Given the description of an element on the screen output the (x, y) to click on. 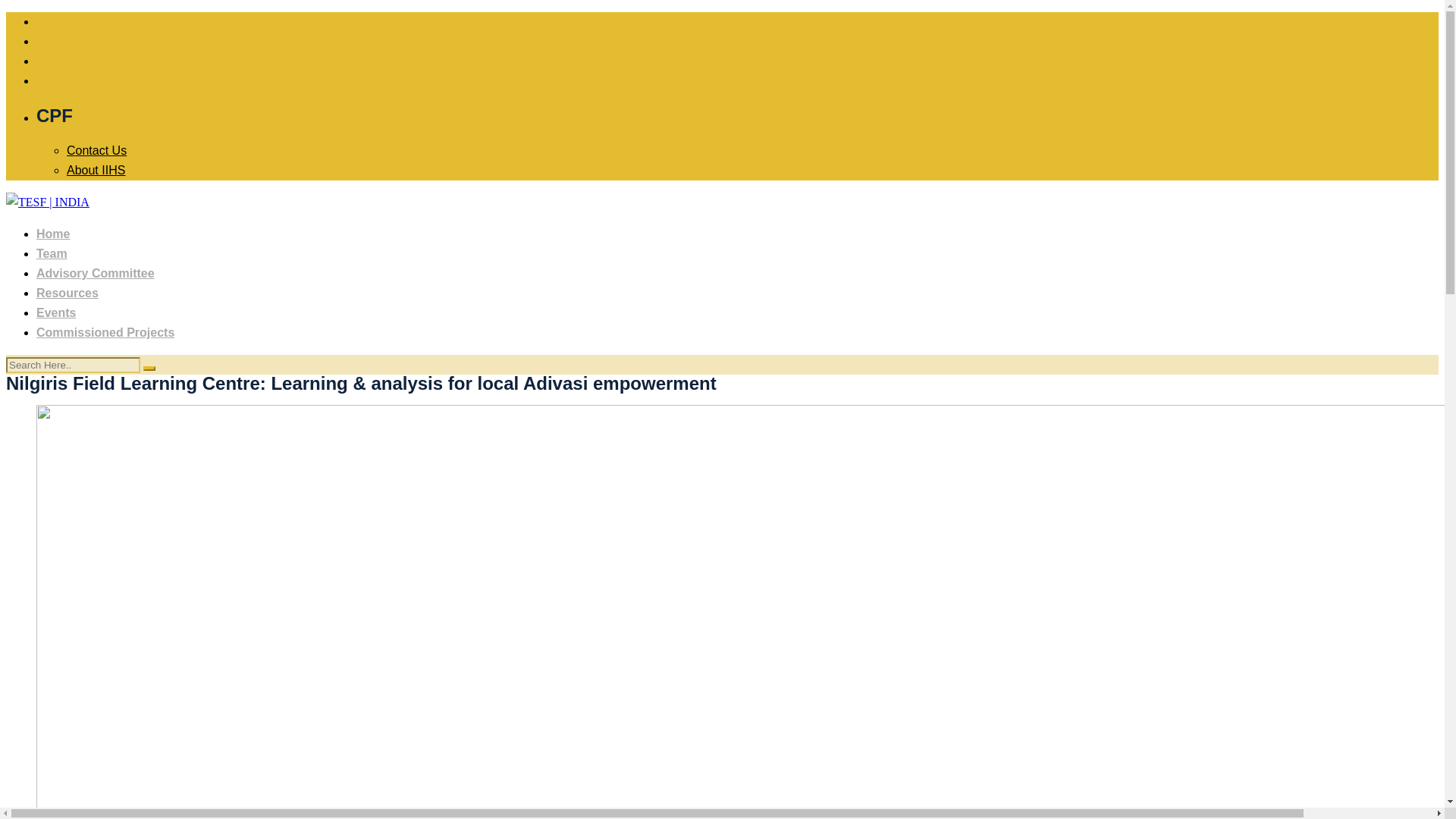
Team (51, 253)
Events (55, 312)
Commissioned Projects (105, 332)
Contact Us (96, 150)
Advisory Committee (95, 273)
Home (52, 233)
About IIHS (95, 169)
Resources (67, 292)
